Given the description of an element on the screen output the (x, y) to click on. 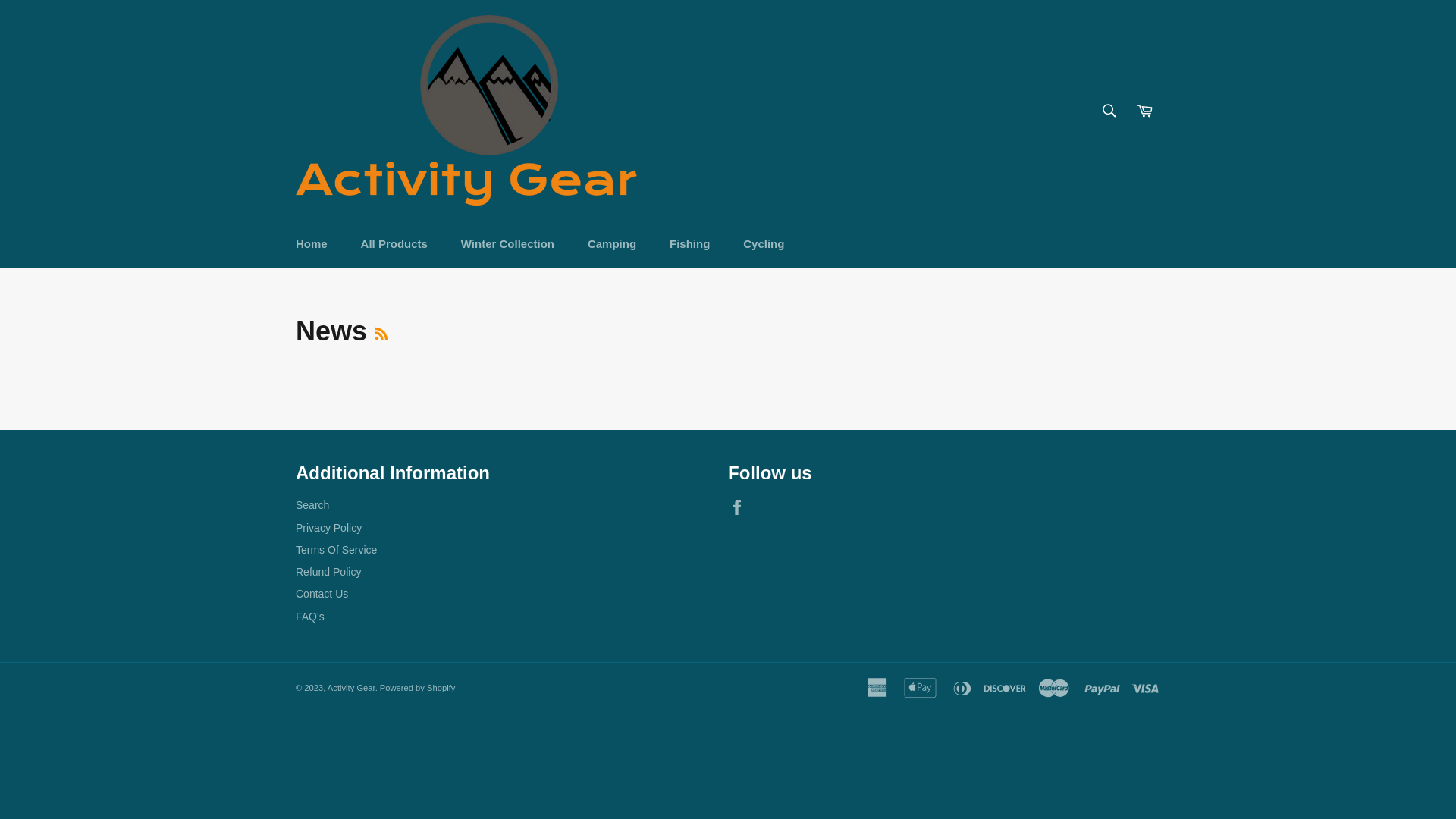
Search Element type: text (312, 504)
FAQ's Element type: text (309, 616)
Camping Element type: text (611, 244)
Cart Element type: text (1144, 109)
Winter Collection Element type: text (507, 244)
All Products Element type: text (393, 244)
Fishing Element type: text (689, 244)
Contact Us Element type: text (321, 593)
Cycling Element type: text (763, 244)
Facebook Element type: text (740, 507)
Refund Policy Element type: text (327, 571)
Search Element type: text (1109, 109)
Terms Of Service Element type: text (335, 549)
Home Element type: text (311, 244)
Powered by Shopify Element type: text (417, 687)
Activity Gear Element type: text (351, 687)
Privacy Policy Element type: text (328, 527)
RSS Element type: text (381, 330)
